Given the description of an element on the screen output the (x, y) to click on. 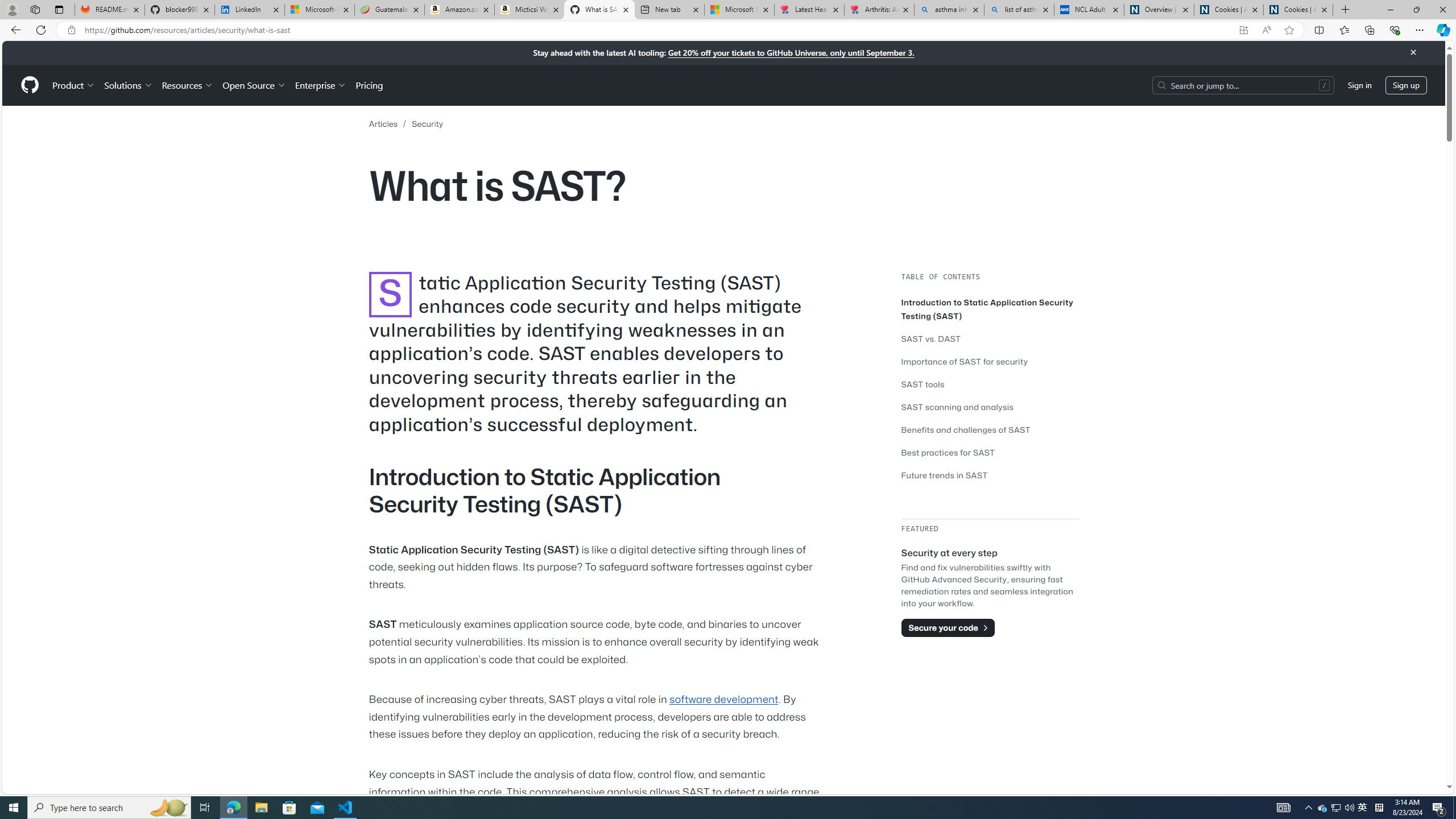
Articles (390, 123)
Introduction to Static Application Security Testing (SAST) (989, 308)
SAST tools (989, 383)
Security (427, 123)
software development (723, 700)
Enterprise (319, 84)
LinkedIn (249, 9)
